Given the description of an element on the screen output the (x, y) to click on. 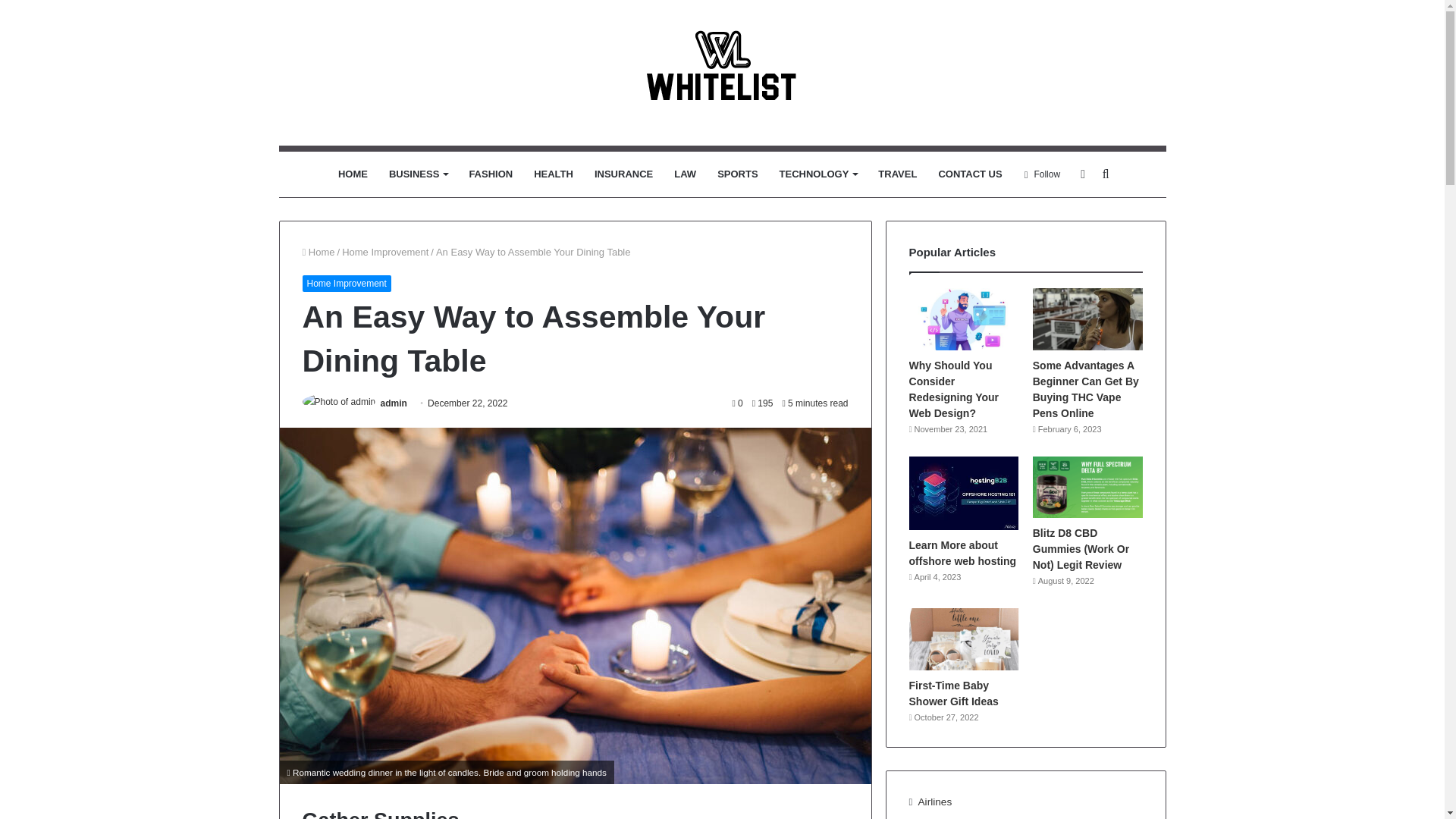
White List (722, 72)
Home Improvement (385, 251)
FASHION (490, 174)
HOME (352, 174)
TRAVEL (897, 174)
Home (317, 251)
CONTACT US (969, 174)
admin (393, 403)
Follow (1042, 174)
INSURANCE (623, 174)
